Given the description of an element on the screen output the (x, y) to click on. 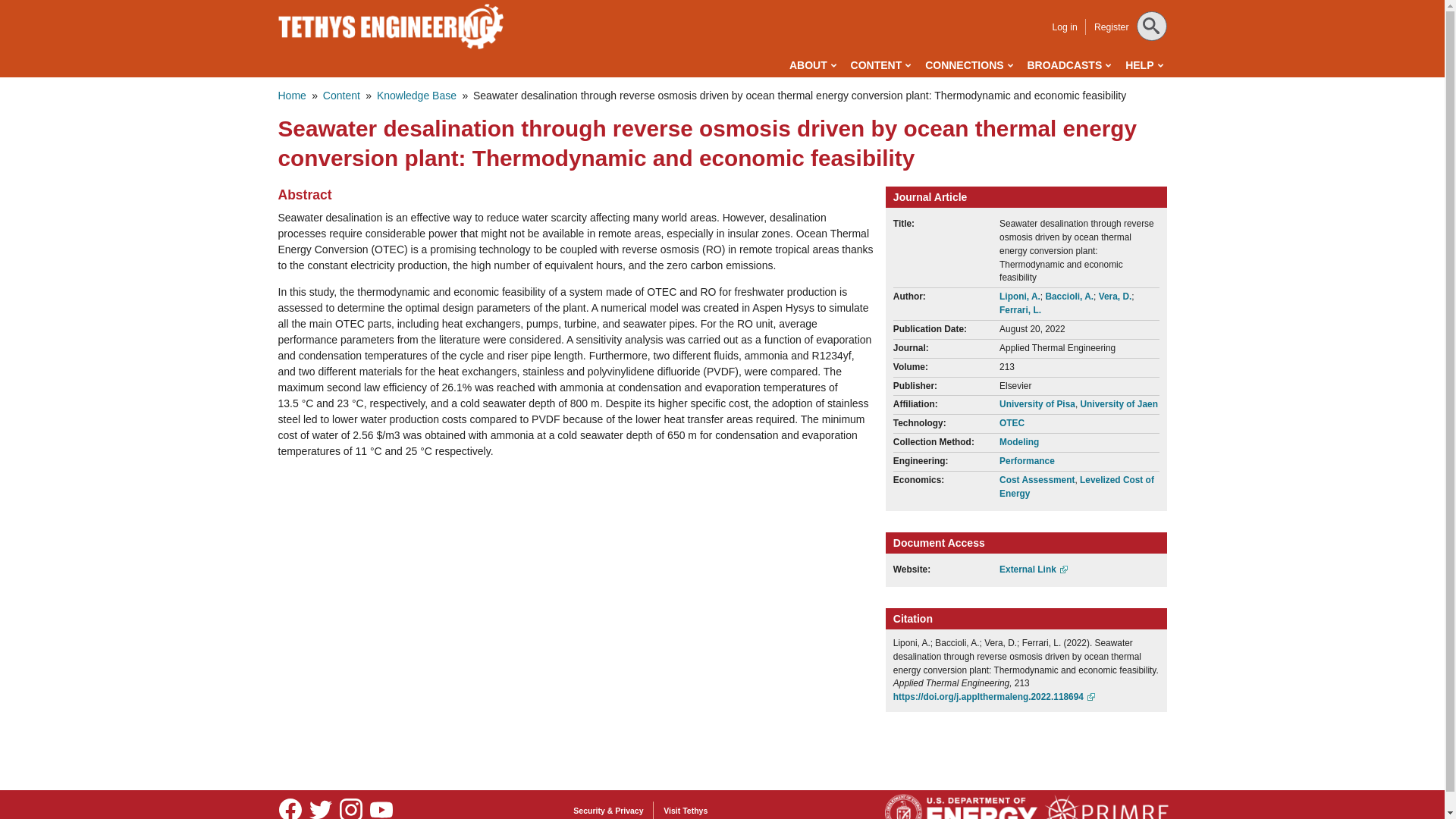
Baccioli, A. (1069, 296)
Ferrari, L. (1019, 309)
Home (291, 95)
Levelized Cost of Energy (1076, 486)
OTEC (1011, 422)
Liponi, A. (1019, 296)
Content (341, 95)
Cost Assessment (1036, 480)
YouTube logo (381, 806)
